Given the description of an element on the screen output the (x, y) to click on. 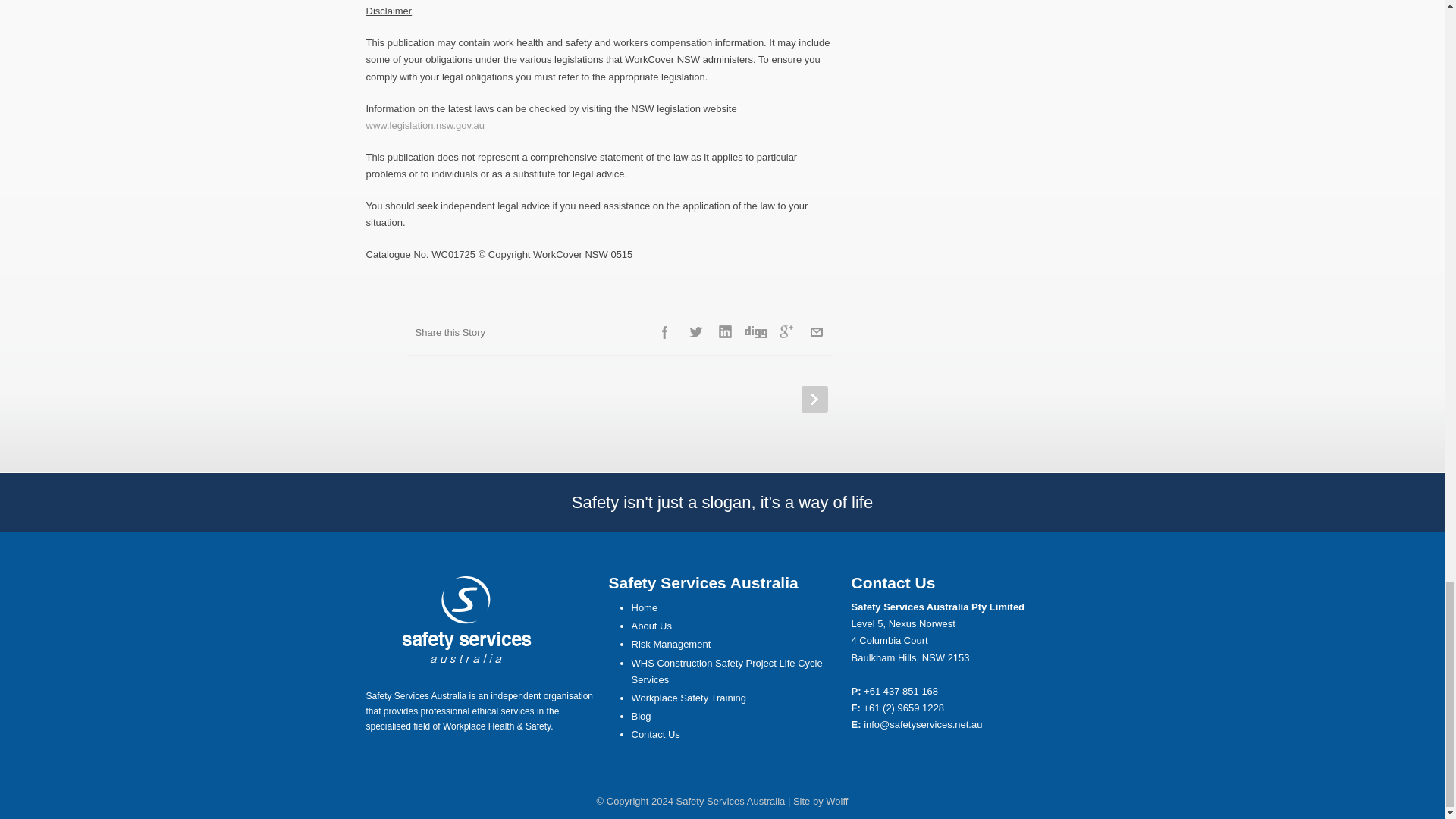
Facebook (664, 331)
Wolff Graphic Design (836, 800)
Twitter (694, 331)
Digg (756, 331)
www.legislation.nsw.gov.au (424, 125)
LinkedIn (725, 331)
